Given the description of an element on the screen output the (x, y) to click on. 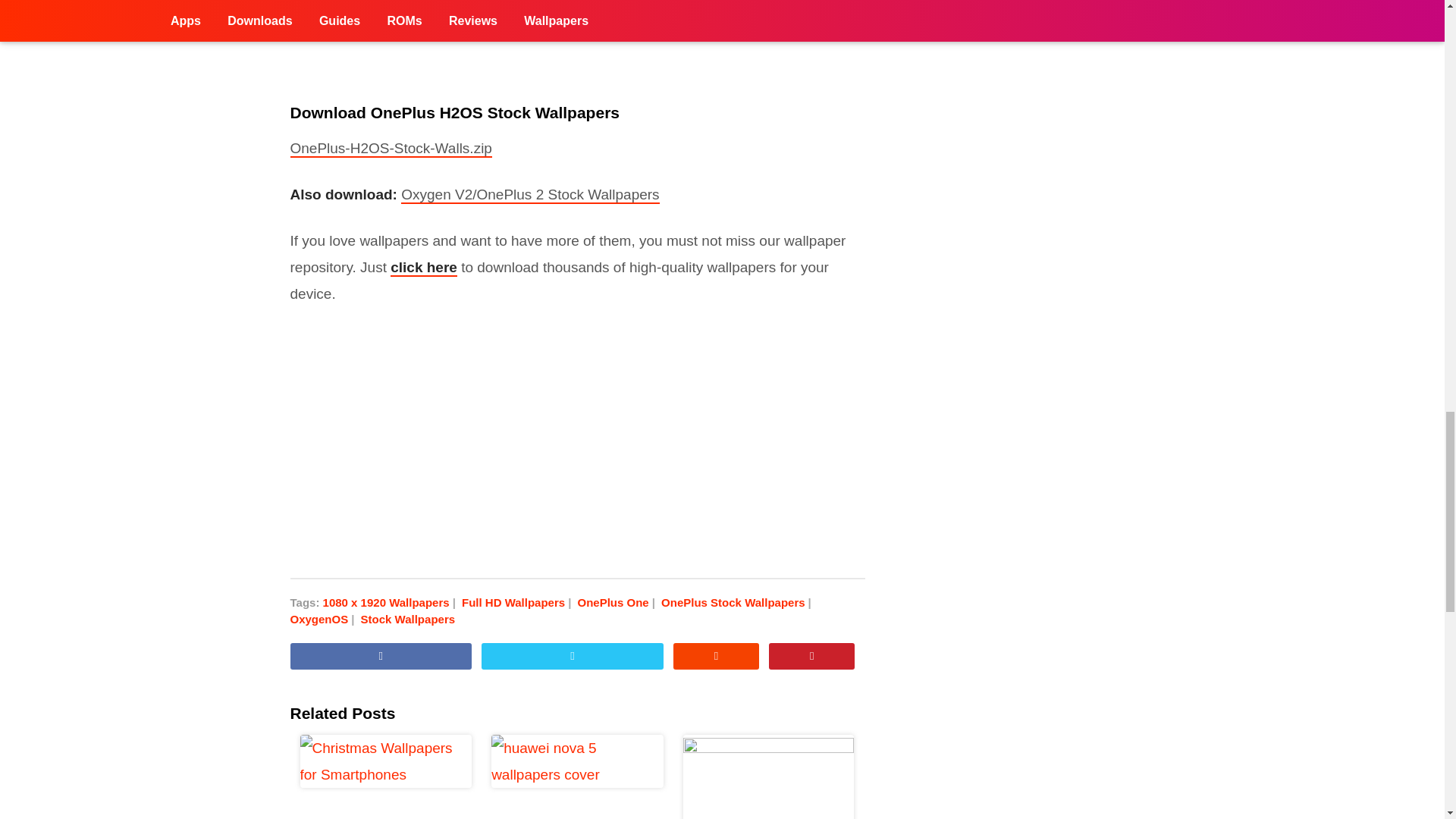
Download Huawei Nova 5 Stock Wallpapers (577, 776)
OnePlus-H2OS-Stock-Walls.zip (390, 149)
Download 125 Christmas Wallpapers for Smartphones (385, 776)
OxygenOS (322, 618)
OnePlus One (618, 602)
OnePlus Stock Wallpapers (737, 602)
click here (423, 267)
1080 x 1920 Wallpapers (390, 602)
Full HD Wallpapers (517, 602)
Stock Wallpapers (407, 618)
